Given the description of an element on the screen output the (x, y) to click on. 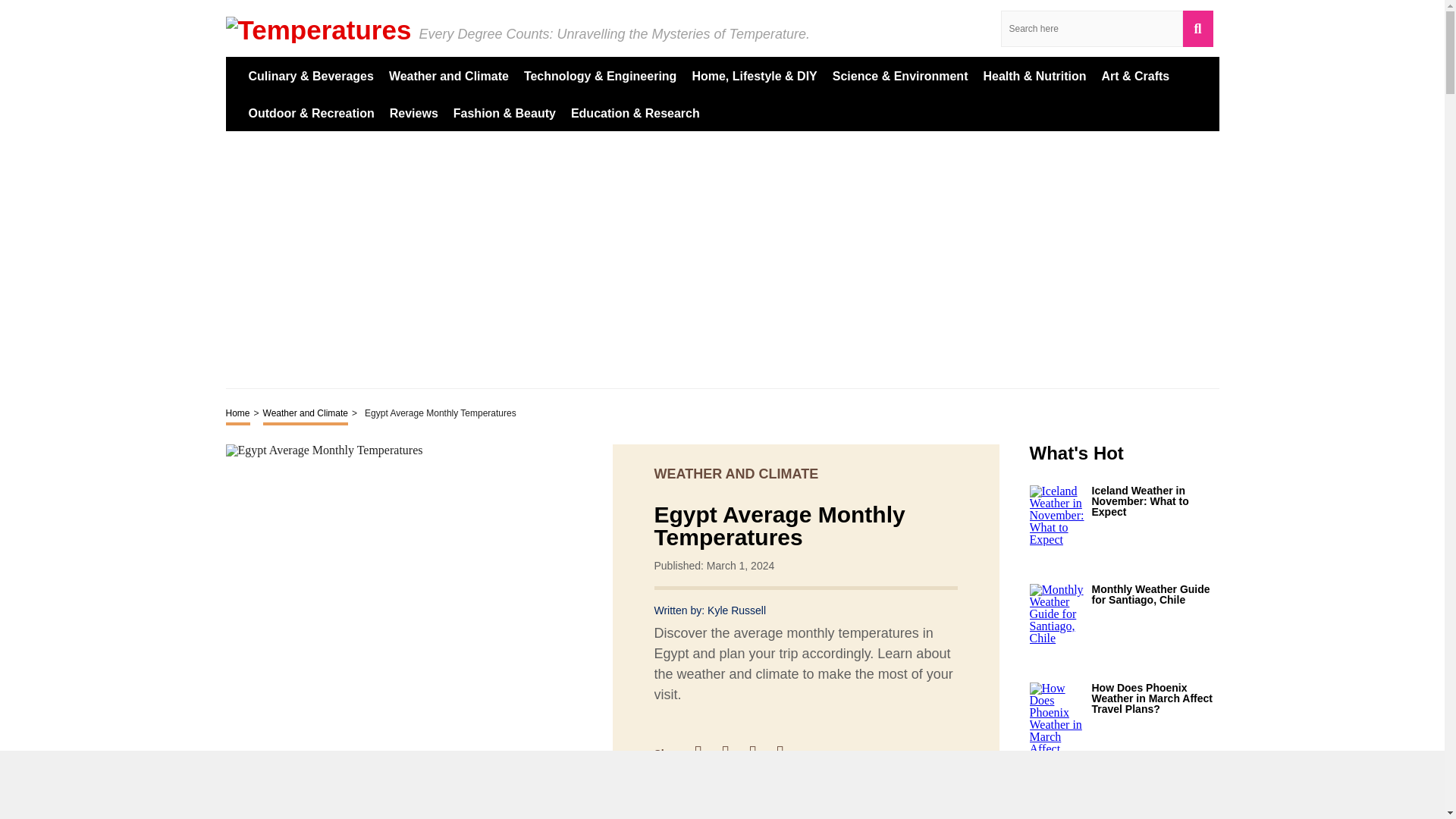
Reviews (414, 112)
Share on Pinterest (759, 753)
Share on WhatsApp (786, 753)
Share on Twitter (732, 753)
Weather and Climate (448, 74)
Share on Facebook (705, 753)
Kyle Russell (736, 610)
Weather and Climate (306, 414)
Home (237, 414)
